Given the description of an element on the screen output the (x, y) to click on. 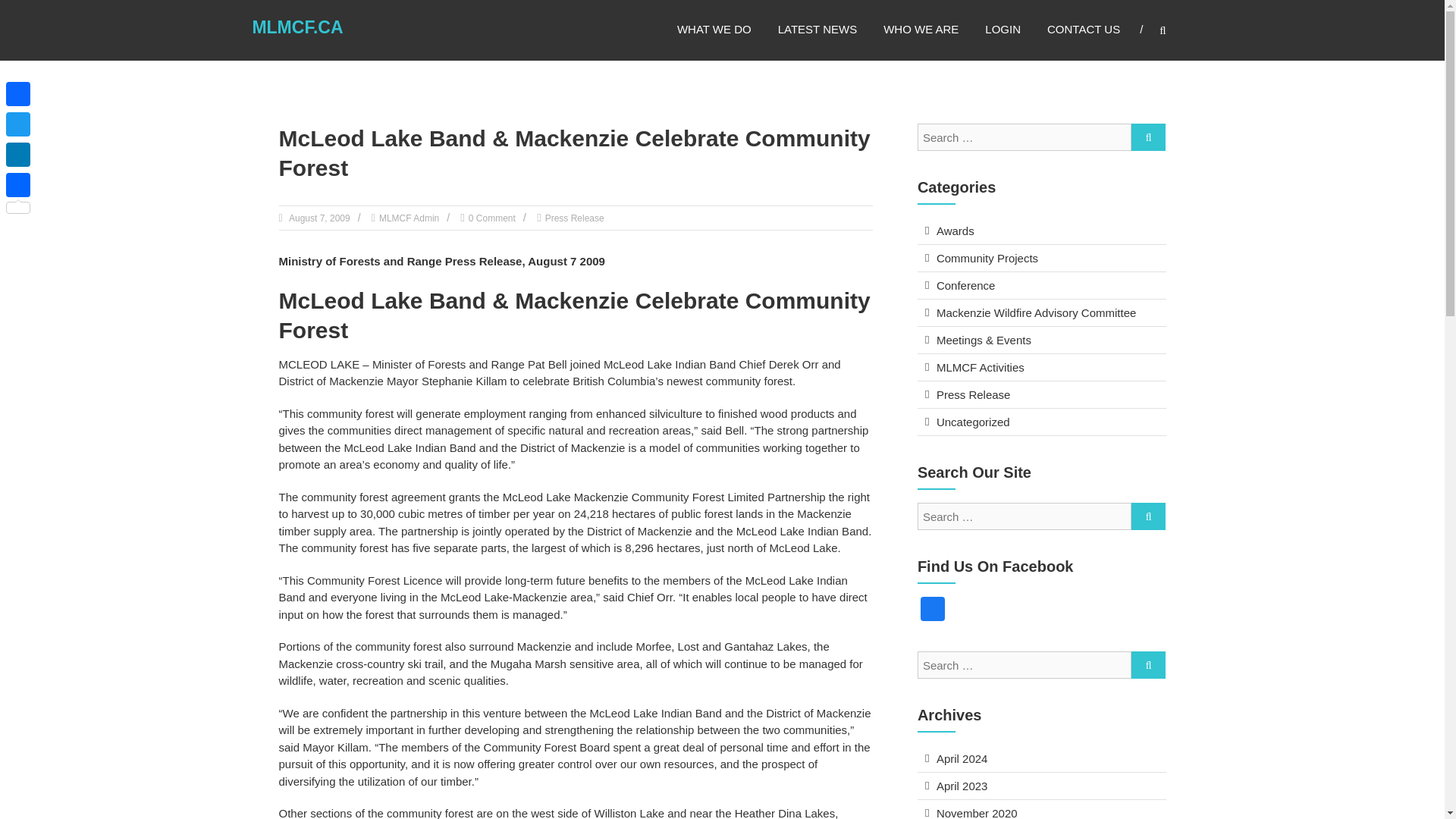
MLMCF.CA (296, 26)
MLMCF.CA (296, 26)
Facebook (932, 610)
Press Release (973, 394)
Search (1148, 136)
Facebook (932, 610)
Community Projects (987, 257)
MLMCF Activities (980, 367)
WHO WE ARE (920, 29)
5:09 pm (318, 217)
Twitter (17, 123)
Search (1148, 515)
Search (1232, 409)
CONTACT US (1082, 29)
April 2024 (962, 758)
